Given the description of an element on the screen output the (x, y) to click on. 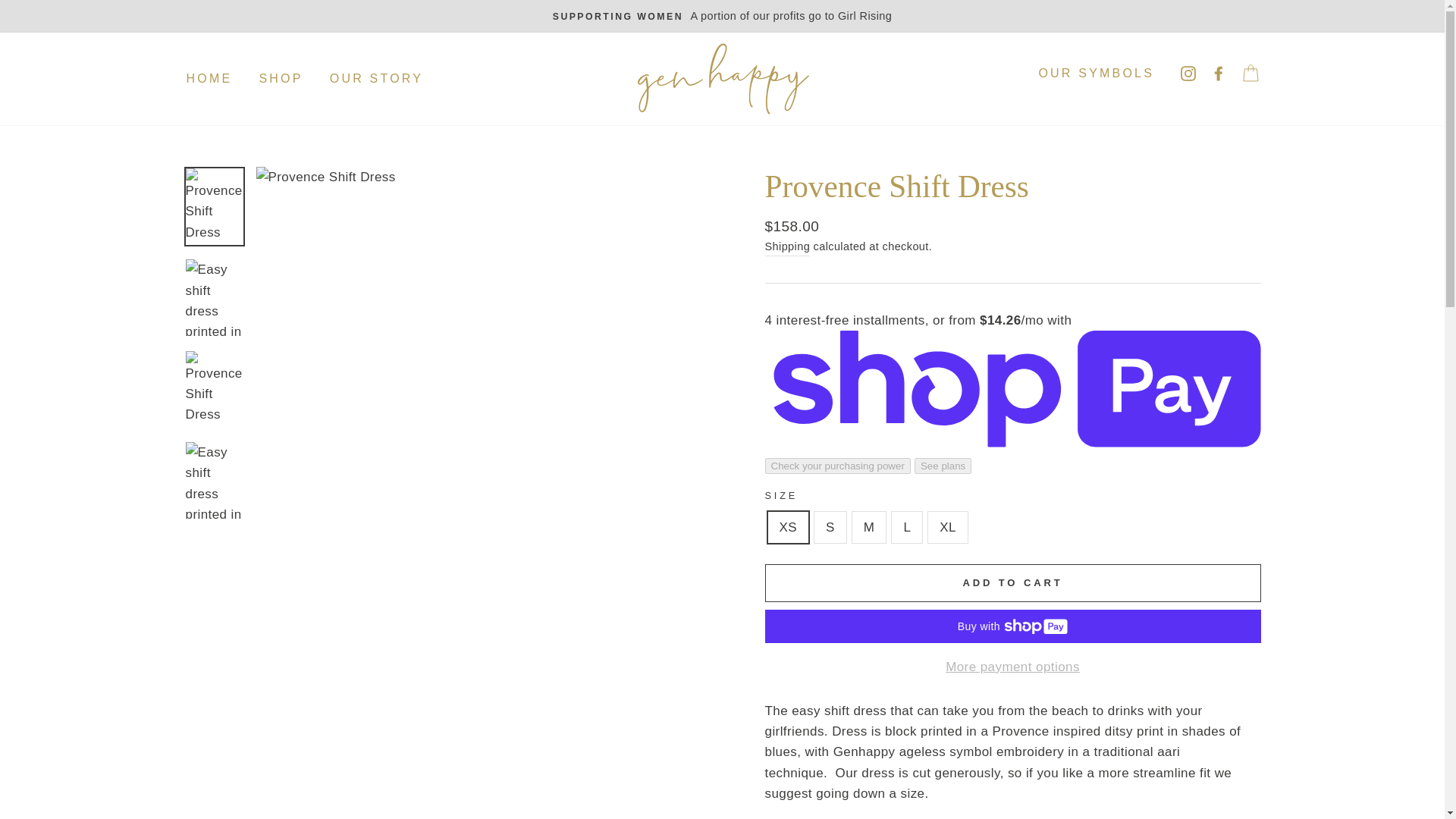
SHOP (280, 79)
Genhappy on Facebook (1212, 73)
Genhappy on Instagram (1182, 73)
OUR STORY (375, 79)
HOME (208, 79)
CART (1249, 73)
OUR SYMBOLS (1096, 73)
Facebook (1212, 73)
Instagram (1182, 73)
